Given the description of an element on the screen output the (x, y) to click on. 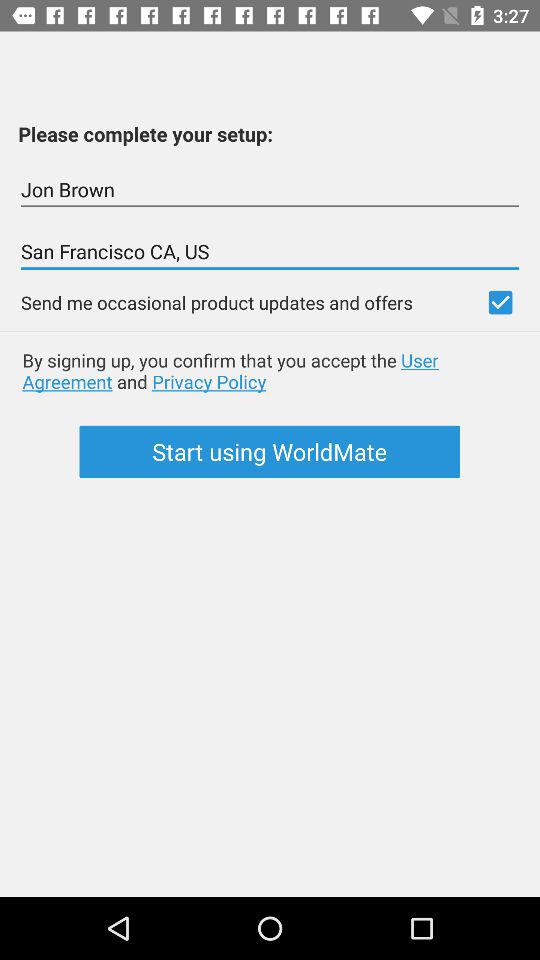
check for updates offers (500, 302)
